Given the description of an element on the screen output the (x, y) to click on. 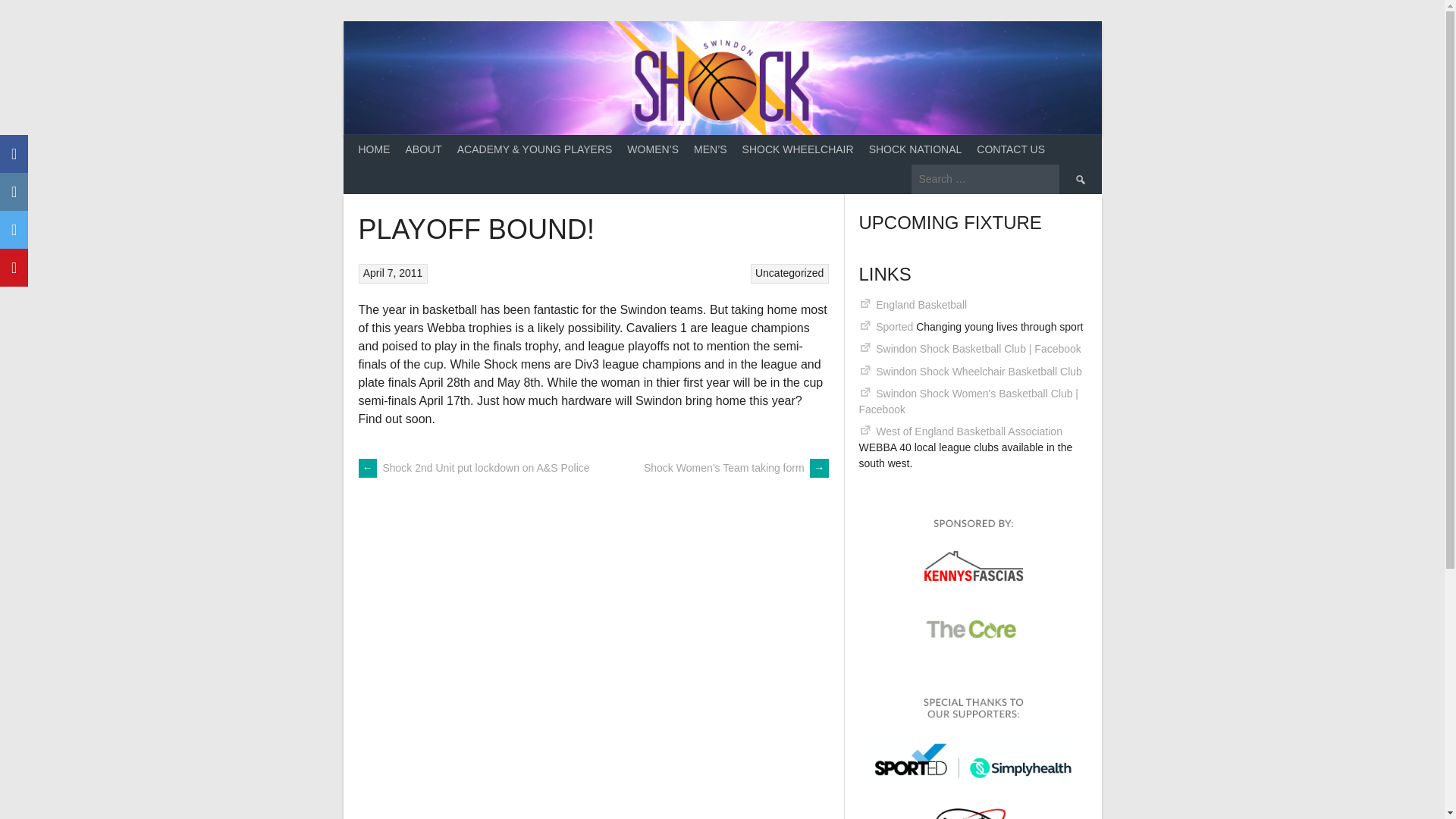
Changing young lives through sport (894, 326)
SHOCK WHEELCHAIR (798, 149)
Sported (894, 326)
West of England Basketball Association (969, 431)
England Basketball (921, 304)
WEBBA 40 local league clubs available in the south west. (969, 431)
April 7, 2011 (392, 272)
ABOUT (422, 149)
HOME (373, 149)
SHOCK NATIONAL (915, 149)
Swindon Shock Wheelchair Basketball Club (978, 371)
CONTACT US (1010, 149)
Uncategorized (789, 272)
Search (1079, 178)
